Given the description of an element on the screen output the (x, y) to click on. 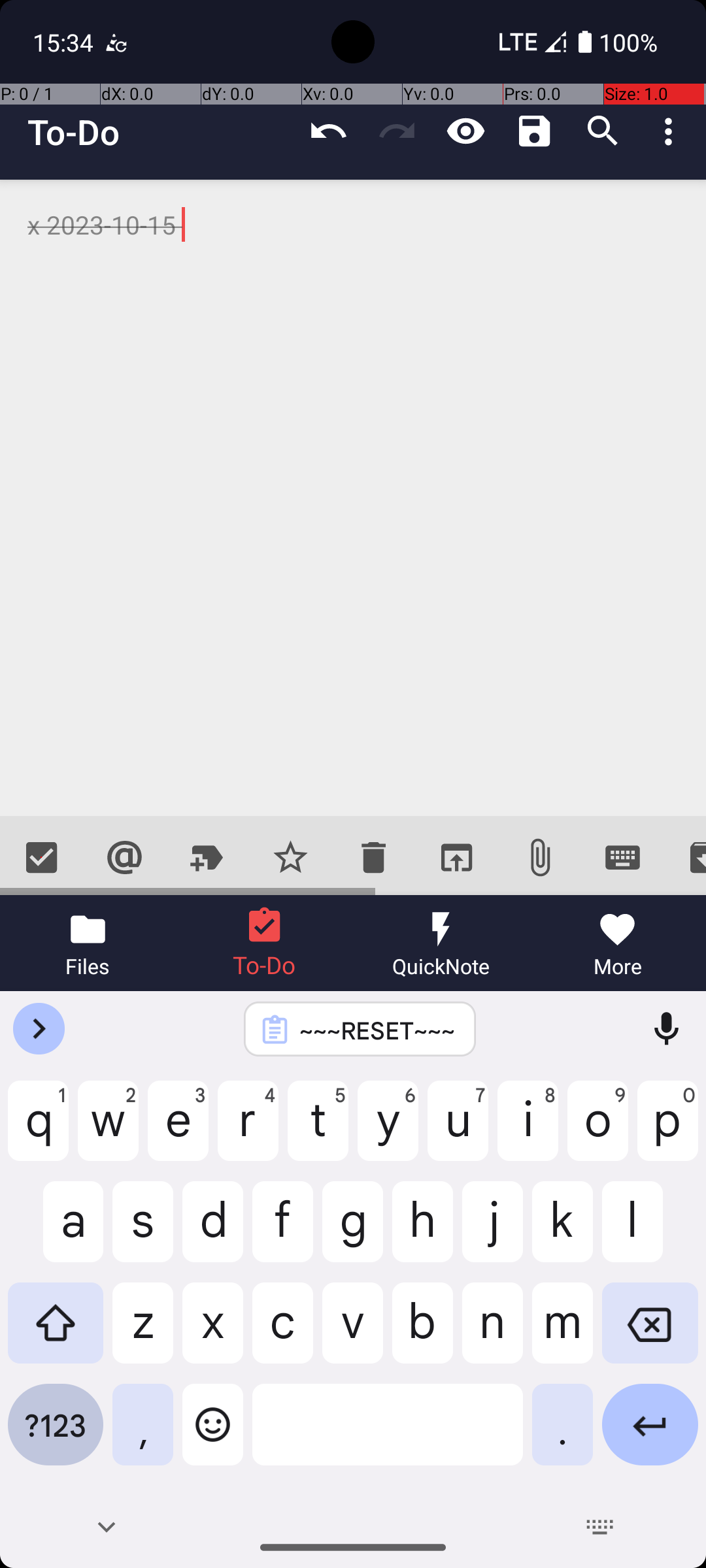
x 2023-10-15  Element type: android.widget.EditText (353, 497)
